Given the description of an element on the screen output the (x, y) to click on. 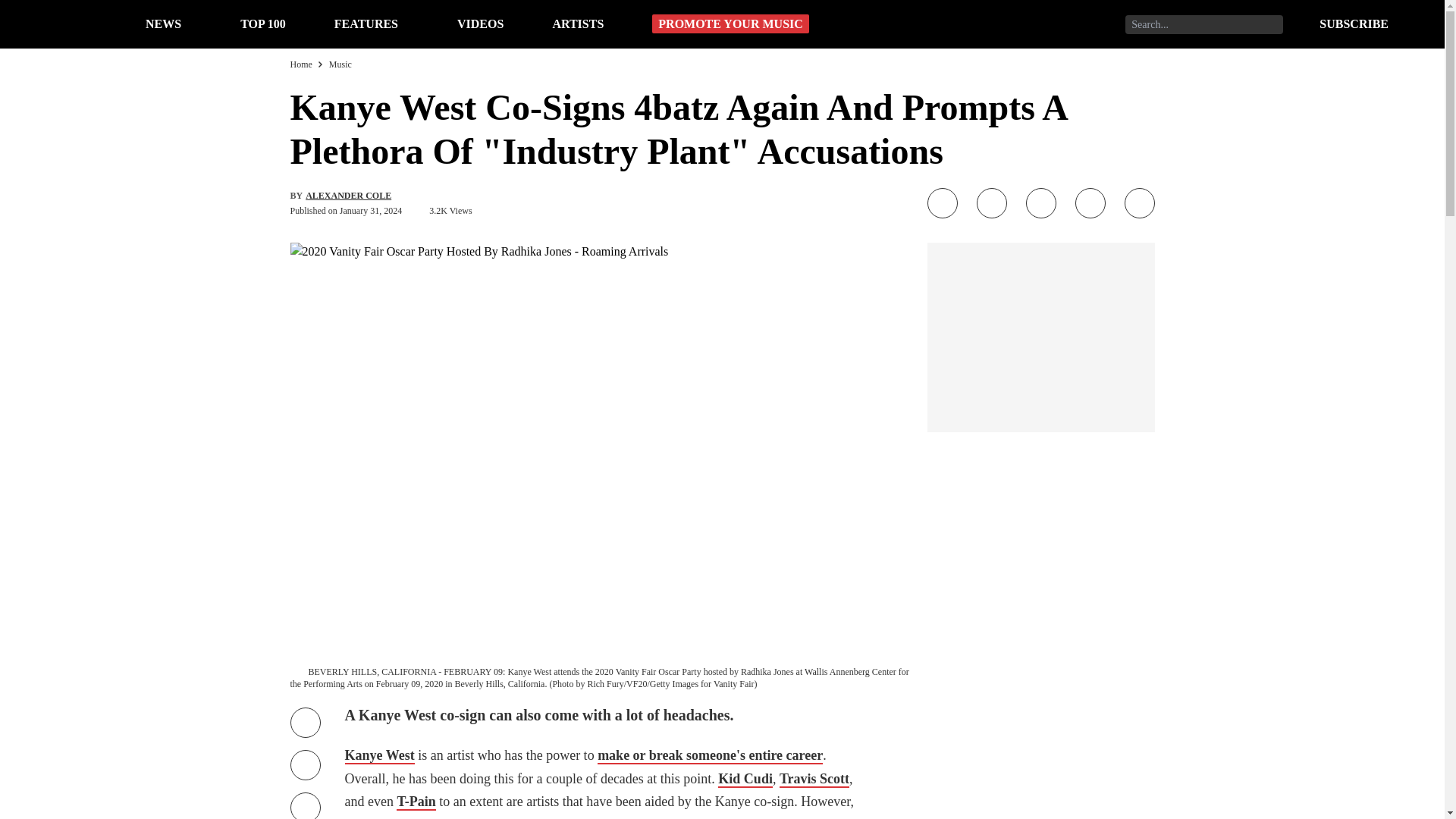
Desiigner (567, 818)
January 31, 2024 (370, 210)
make or break someone's entire career (709, 755)
T-Pain (415, 801)
Kid Cudi (745, 779)
NEWS (162, 23)
Kanye West (378, 755)
Home (300, 63)
Travis Scott (813, 779)
Music (340, 63)
